Given the description of an element on the screen output the (x, y) to click on. 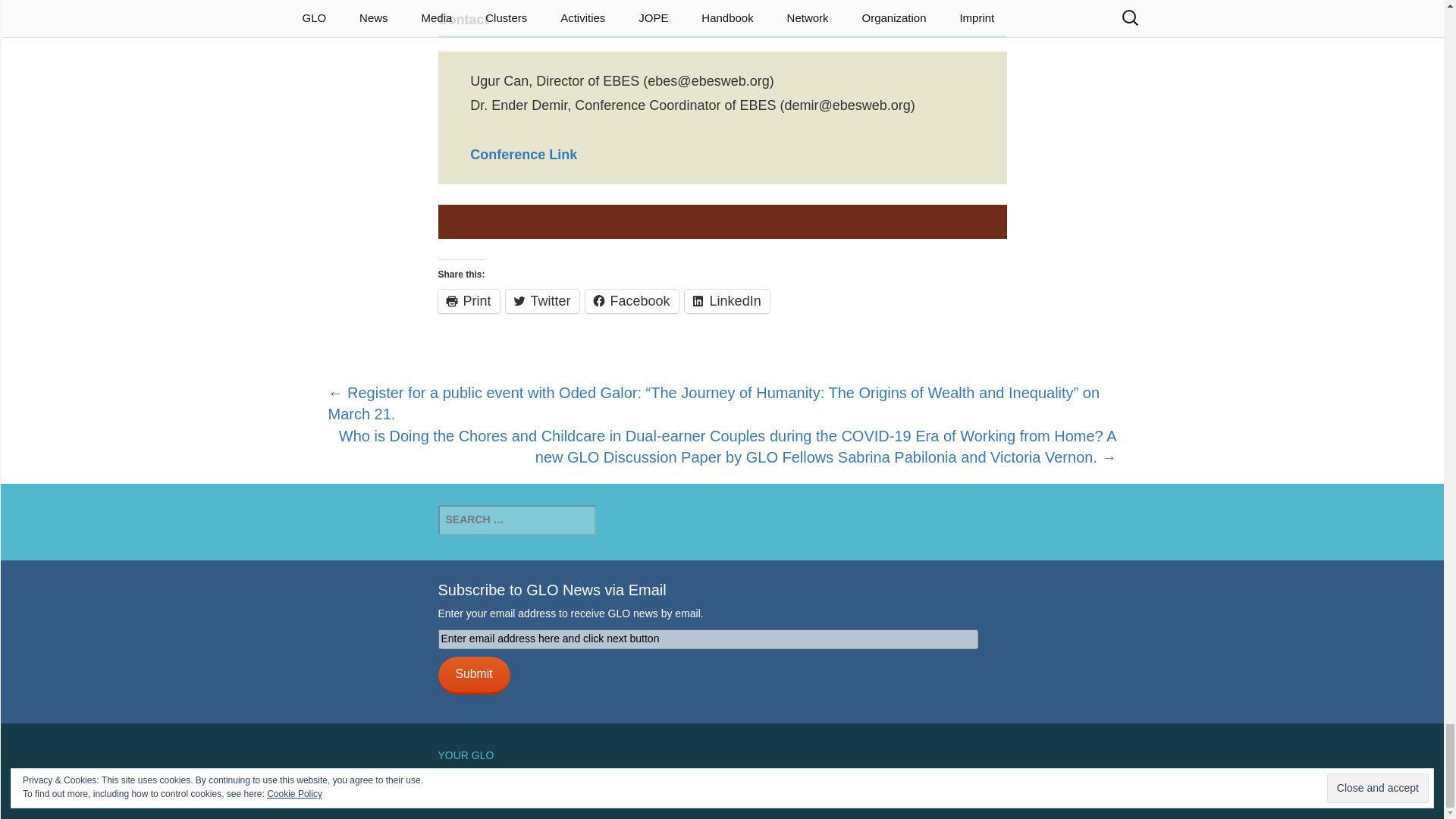
Click to share on Facebook (631, 300)
Click to print (468, 300)
Click to share on LinkedIn (727, 300)
Click to share on Twitter (542, 300)
